Given the description of an element on the screen output the (x, y) to click on. 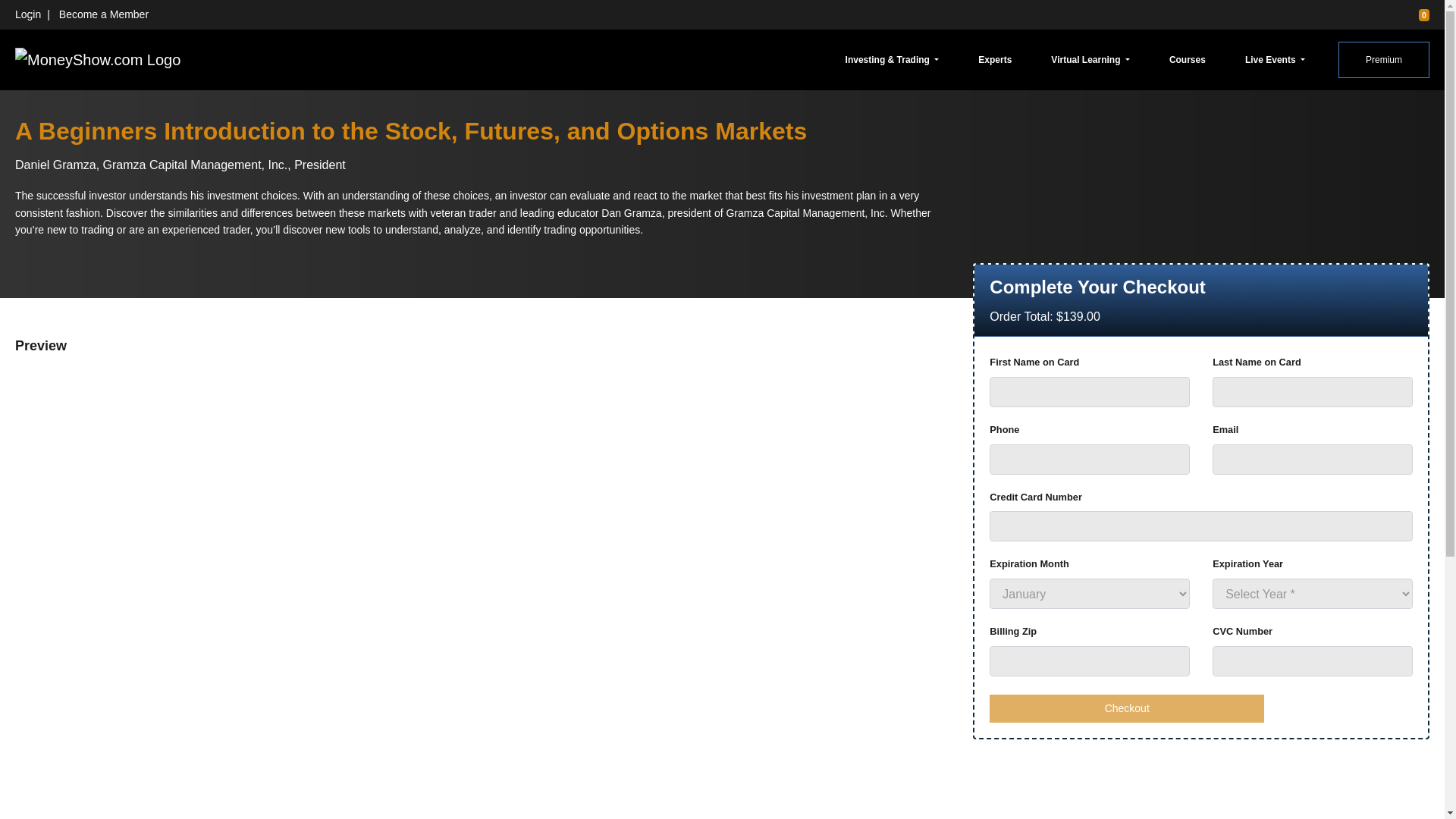
Premium (1383, 59)
Checkout (1126, 708)
Become a Member (103, 14)
Courses (1187, 59)
Experts (994, 59)
Checkout (1126, 708)
0 (1416, 14)
Live Events (1275, 59)
Virtual Learning (1090, 59)
Login (27, 14)
